Given the description of an element on the screen output the (x, y) to click on. 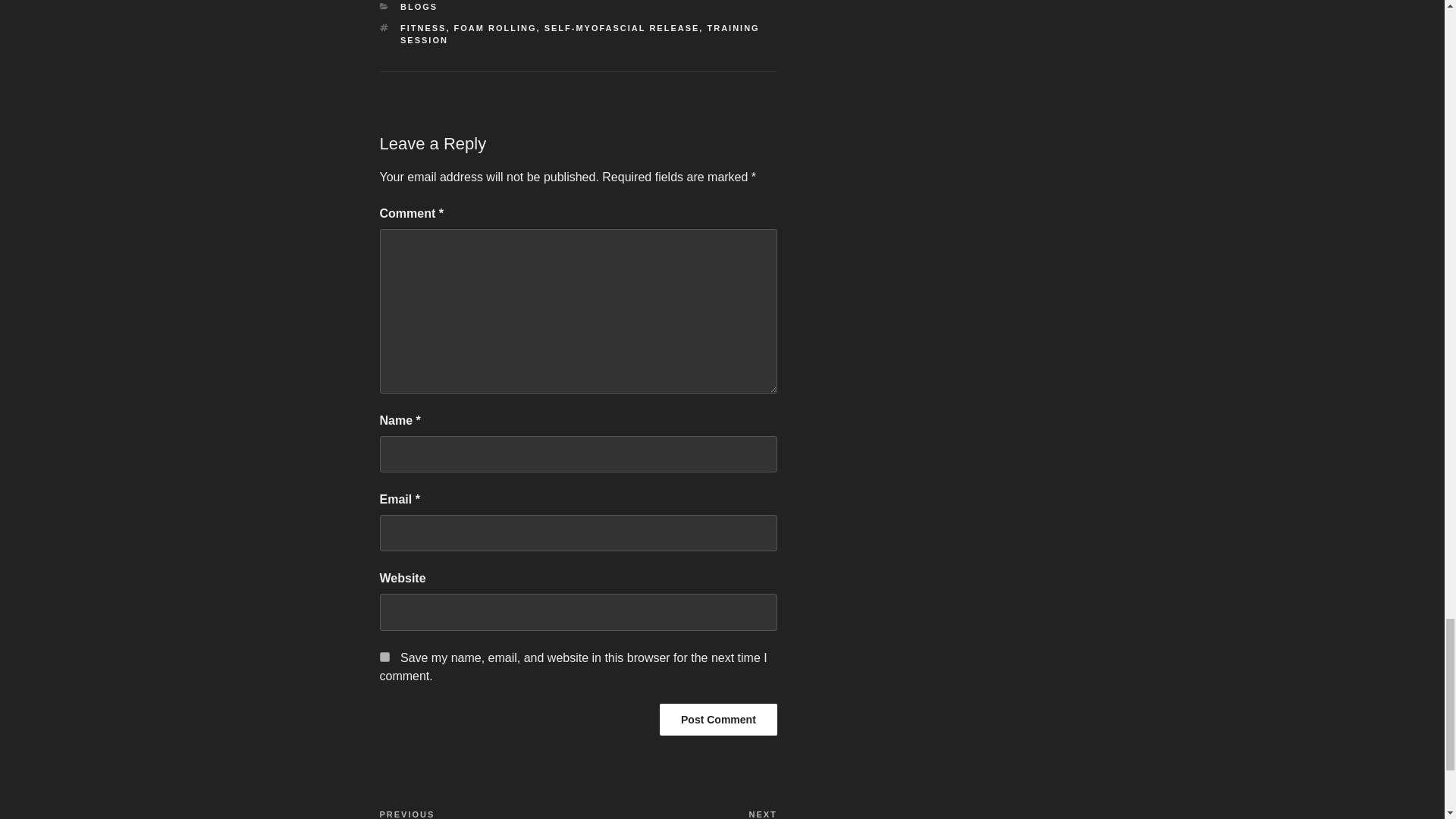
FITNESS (422, 27)
yes (383, 656)
SELF-MYOFASCIAL RELEASE (622, 27)
FOAM ROLLING (495, 27)
Post Comment (718, 719)
Post Comment (718, 719)
TRAINING SESSION (580, 34)
BLOGS (419, 6)
